Given the description of an element on the screen output the (x, y) to click on. 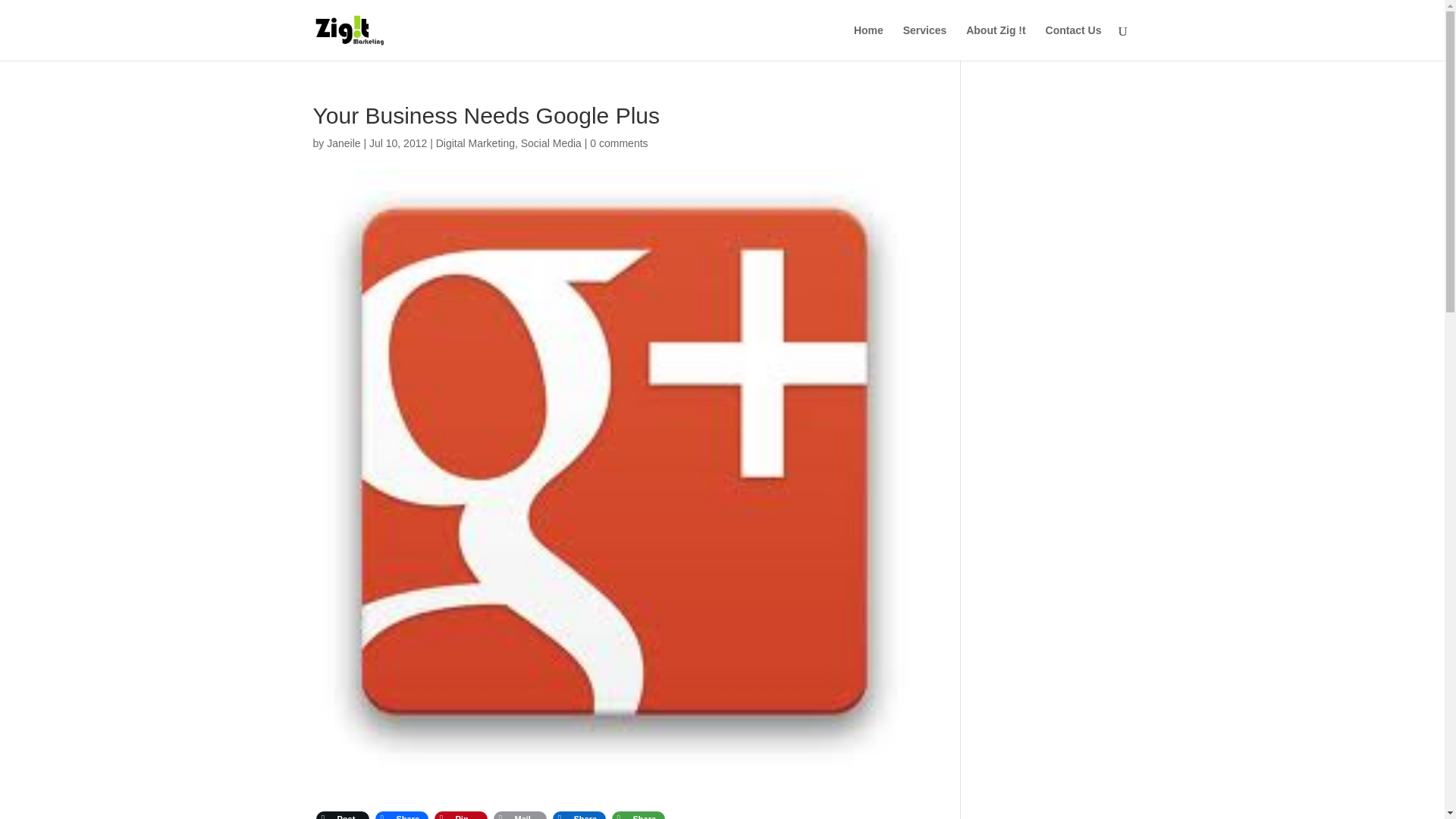
Email This (518, 813)
Posts by Janeile (342, 143)
Pinterest (459, 813)
About Zig !t (996, 42)
Facebook (400, 813)
Digital Marketing (475, 143)
Janeile (342, 143)
Social Media (550, 143)
Services (924, 42)
More Options (637, 813)
0 comments (618, 143)
Contact Us (1073, 42)
LinkedIn (578, 813)
